Given the description of an element on the screen output the (x, y) to click on. 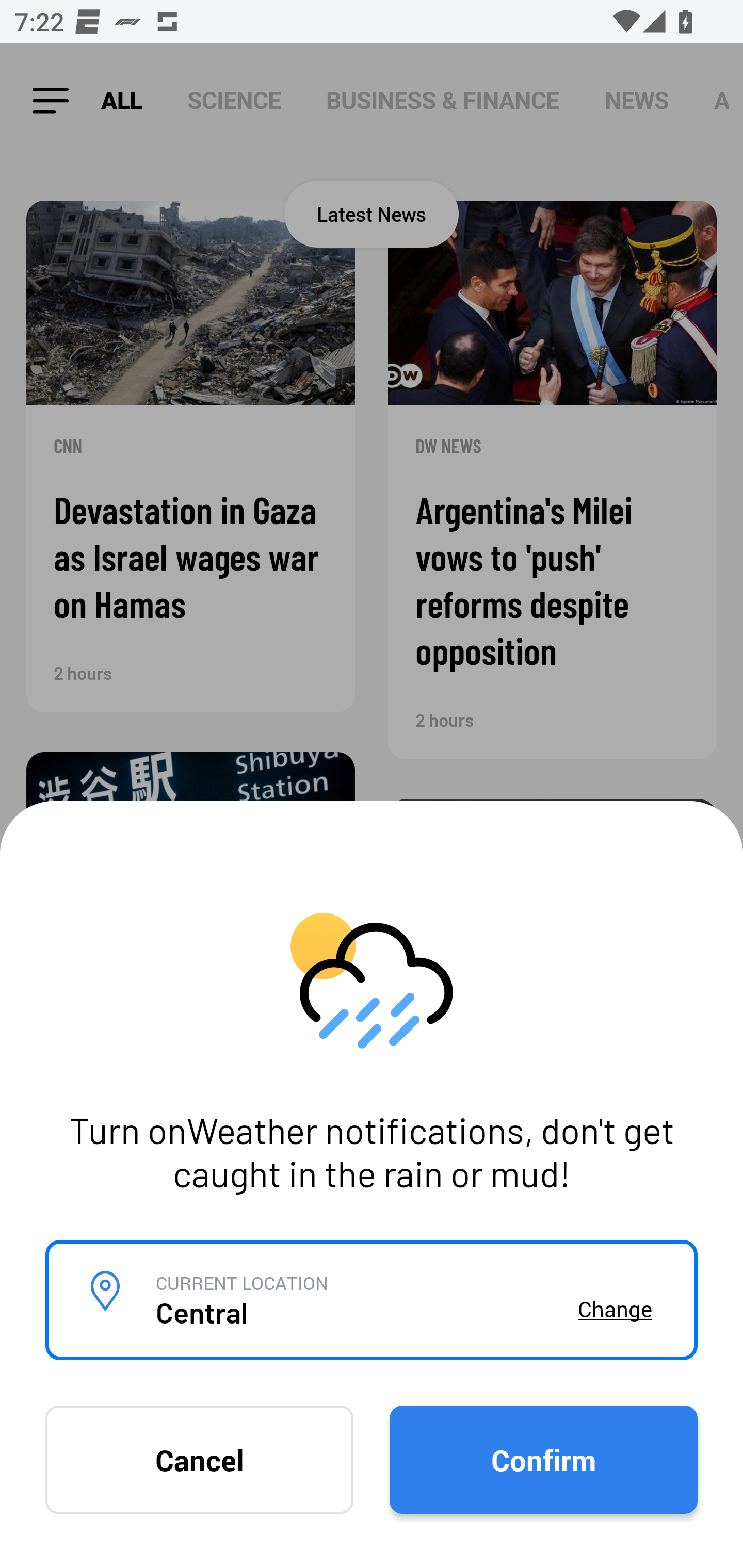
location icon CURRENT LOCATION Central Change (371, 1300)
Change (614, 1308)
Cancel (199, 1458)
Confirm (543, 1458)
